Given the description of an element on the screen output the (x, y) to click on. 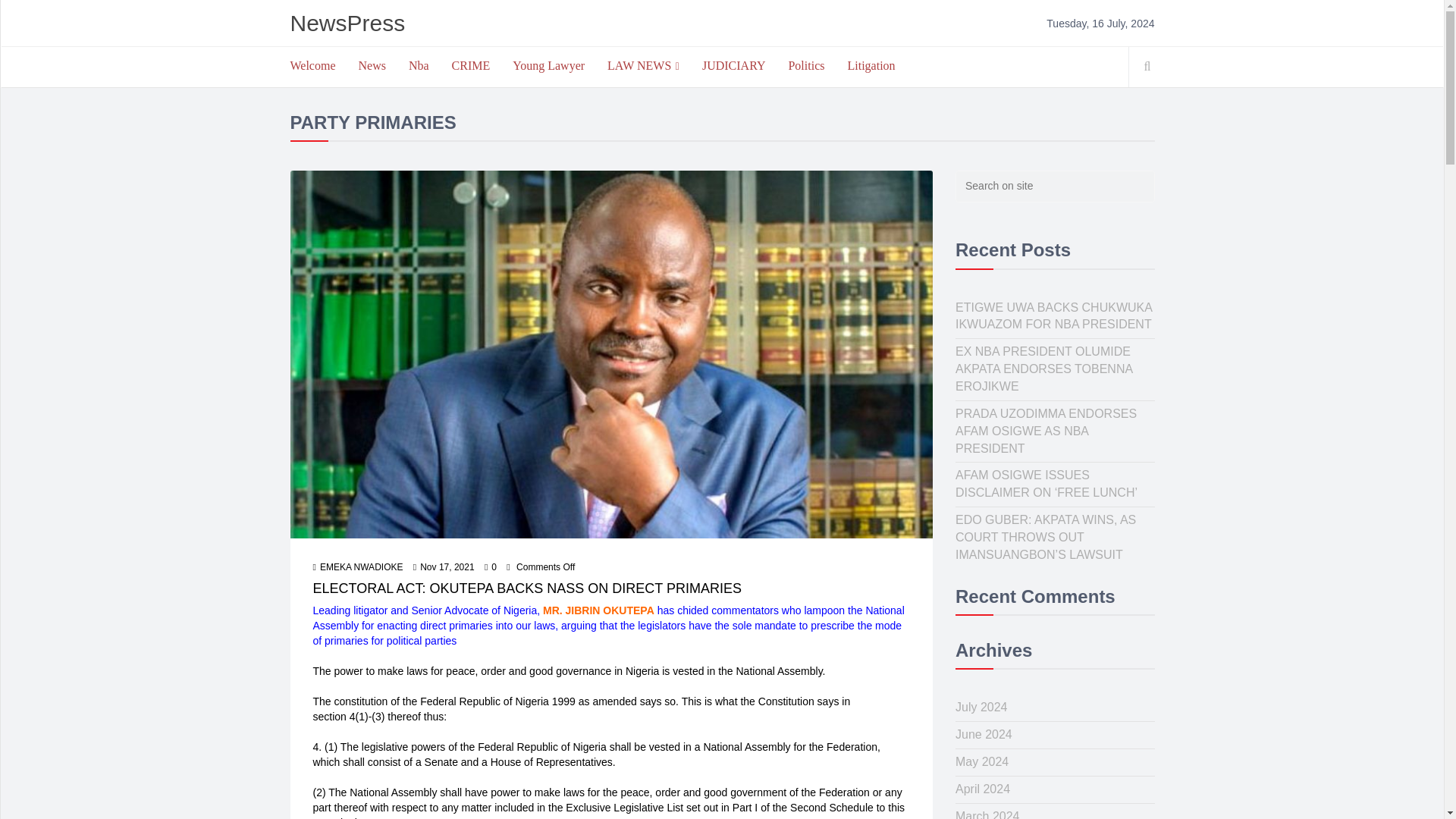
ELECTORAL ACT: OKUTEPA BACKS NASS ON DIRECT PRIMARIES (527, 588)
EX NBA PRESIDENT OLUMIDE AKPATA ENDORSES TOBENNA EROJIKWE (1043, 368)
EMEKA NWADIOKE (358, 567)
July 2024 (981, 707)
Welcome (313, 65)
NewsPress (347, 22)
Litigation (870, 65)
LAW NEWS (642, 65)
Young Lawyer (547, 65)
Politics (805, 65)
CRIME (471, 65)
June 2024 (983, 734)
May 2024 (982, 761)
News (372, 65)
JUDICIARY (733, 65)
